Given the description of an element on the screen output the (x, y) to click on. 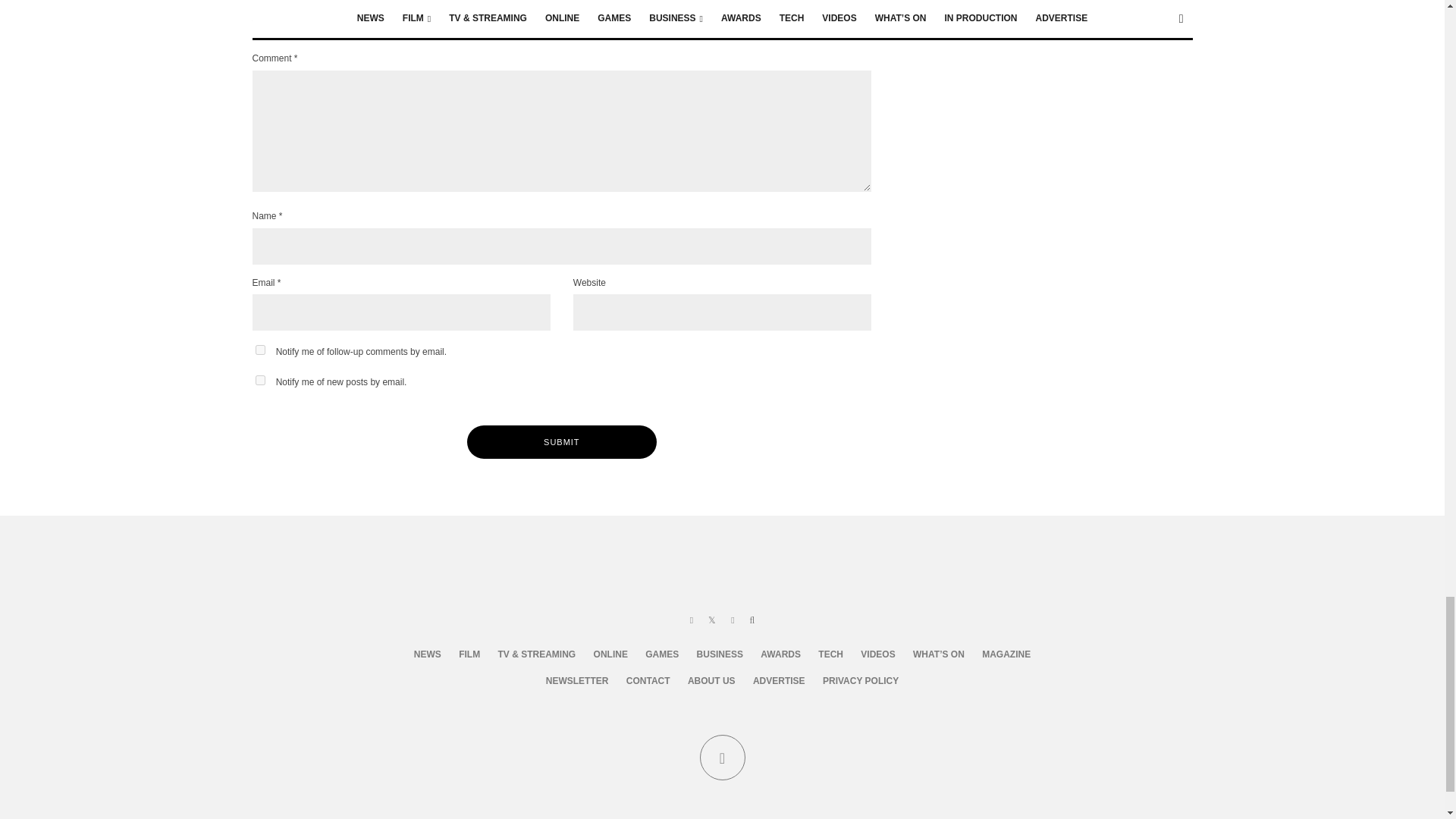
subscribe (259, 379)
subscribe (259, 349)
Submit (561, 441)
